Given the description of an element on the screen output the (x, y) to click on. 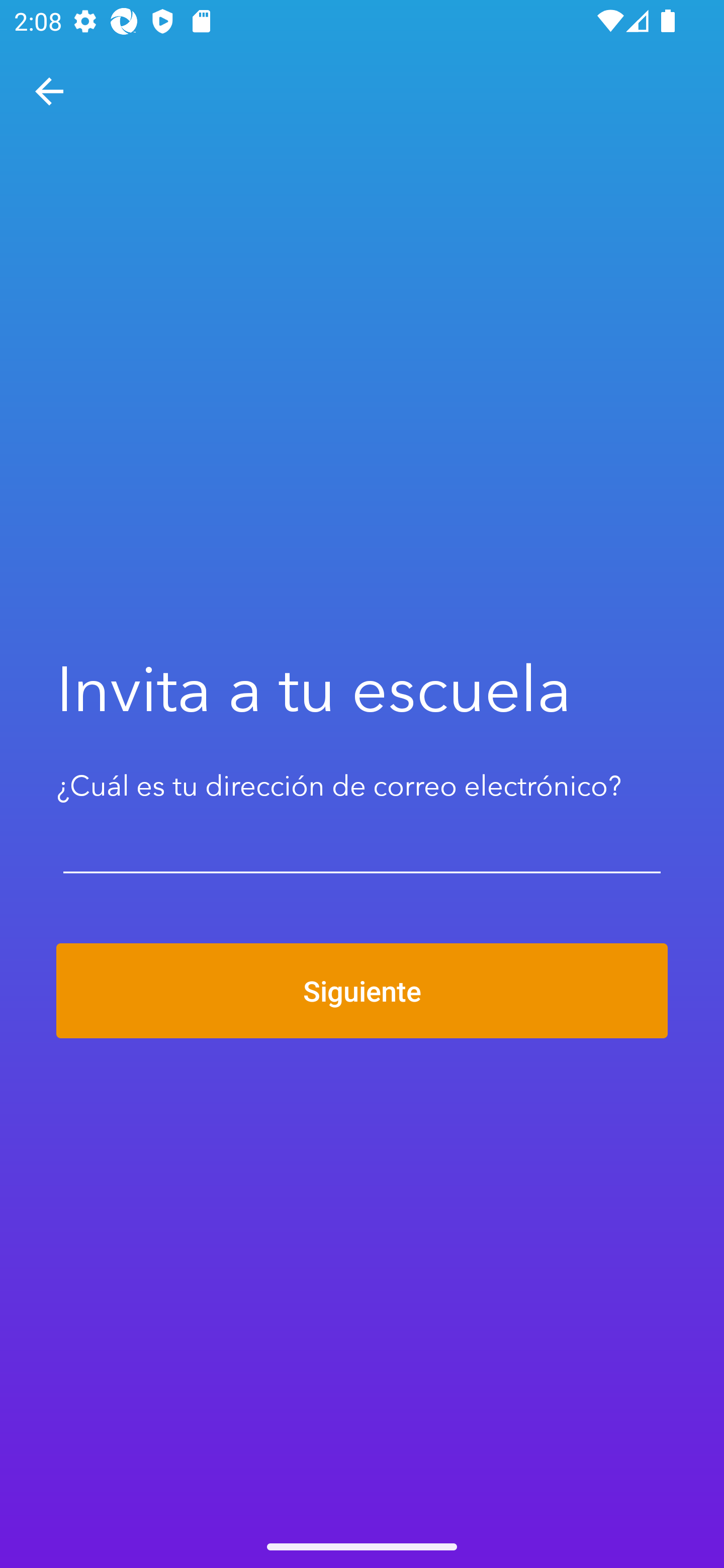
Navegar hacia arriba (49, 91)
Siguiente (361, 990)
